Given the description of an element on the screen output the (x, y) to click on. 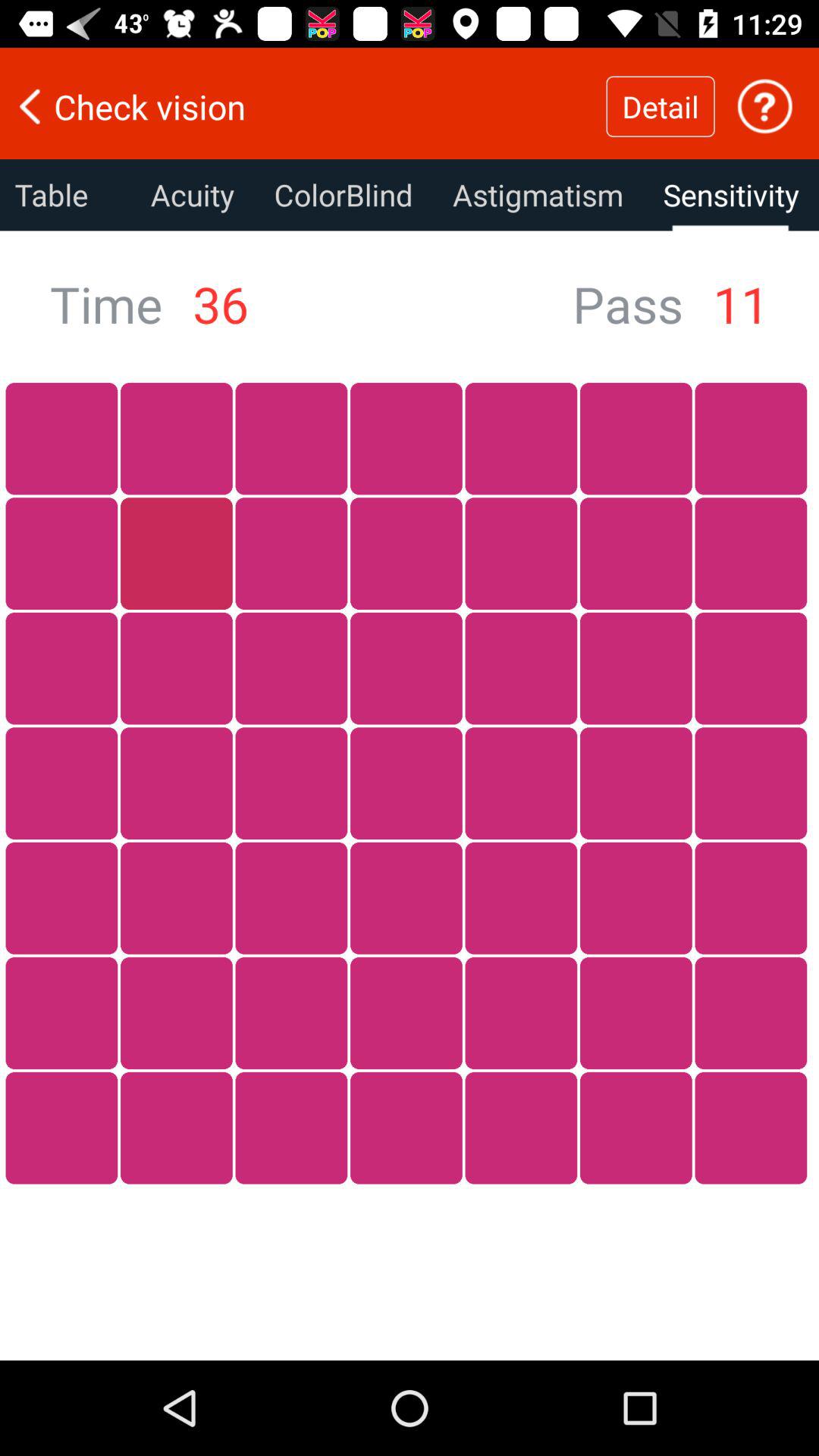
open the item below the check vision (537, 194)
